Given the description of an element on the screen output the (x, y) to click on. 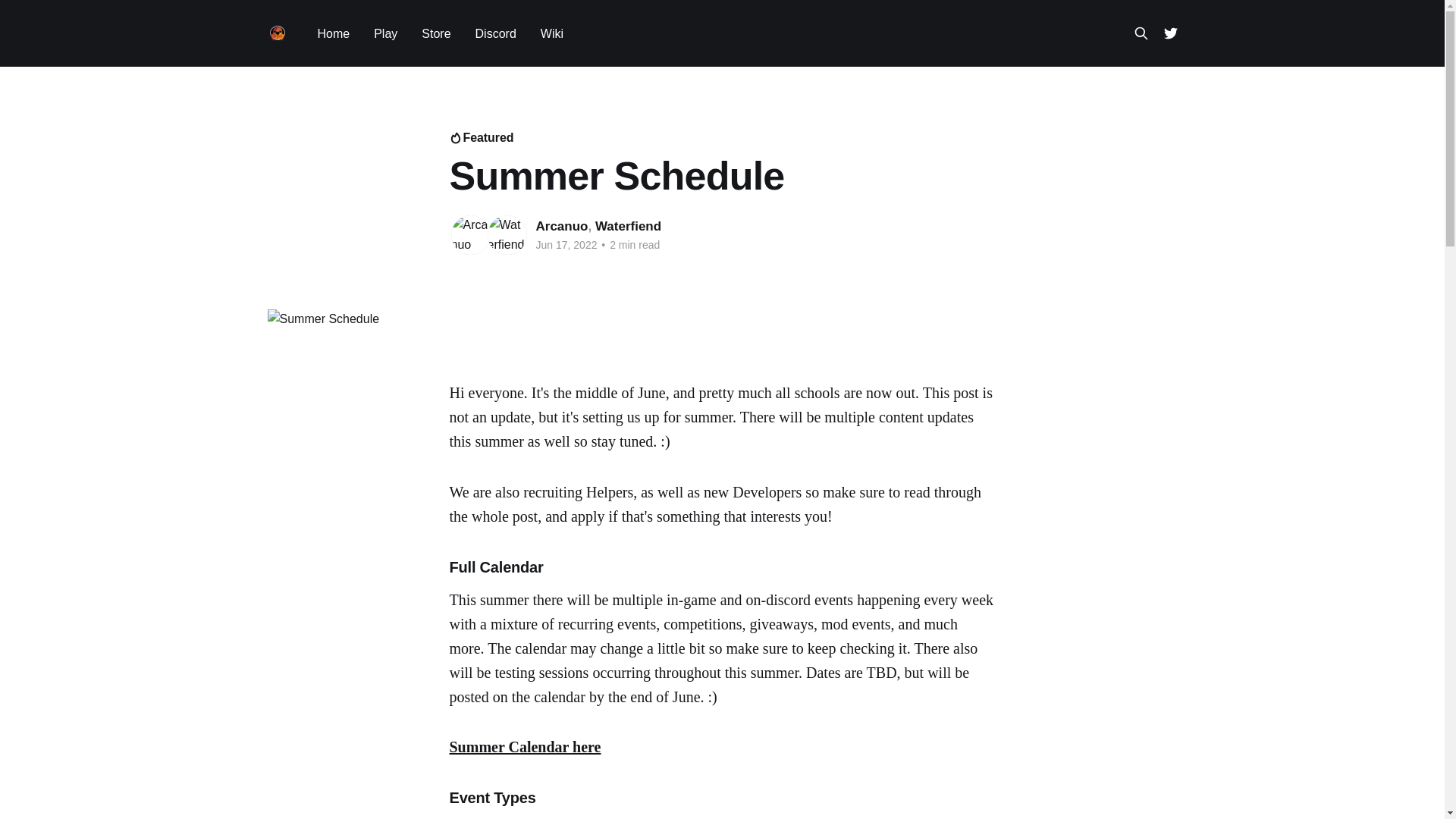
Twitter (1169, 33)
Home (333, 33)
Store (435, 33)
Summer Calendar here (523, 746)
Play (385, 33)
Waterfiend (628, 226)
Wiki (551, 33)
Arcanuo (561, 226)
Discord (496, 33)
